Given the description of an element on the screen output the (x, y) to click on. 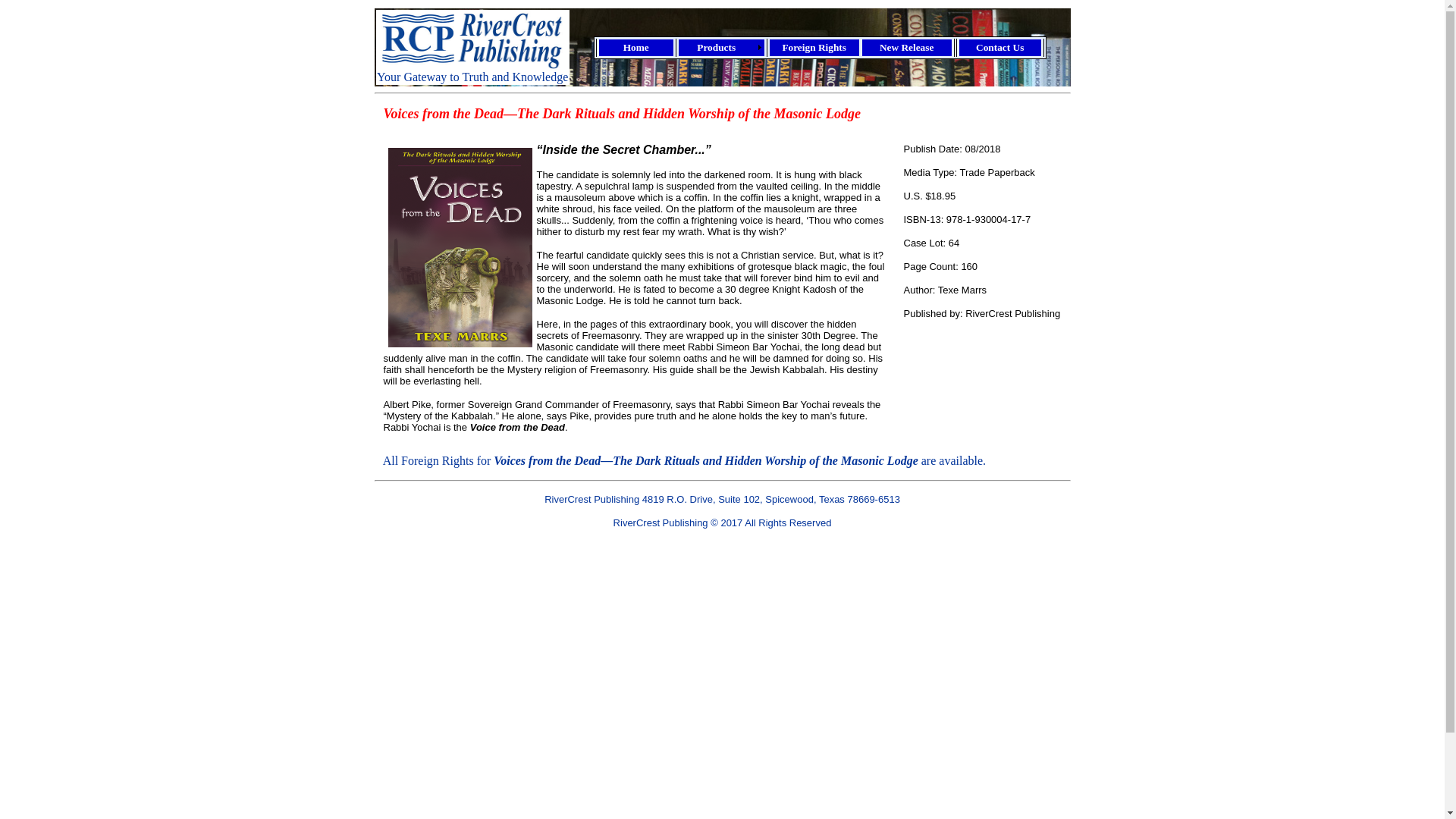
New Release (906, 46)
Foreign Rights (814, 46)
Home (636, 46)
Products (721, 46)
Contact Us (1000, 46)
